Given the description of an element on the screen output the (x, y) to click on. 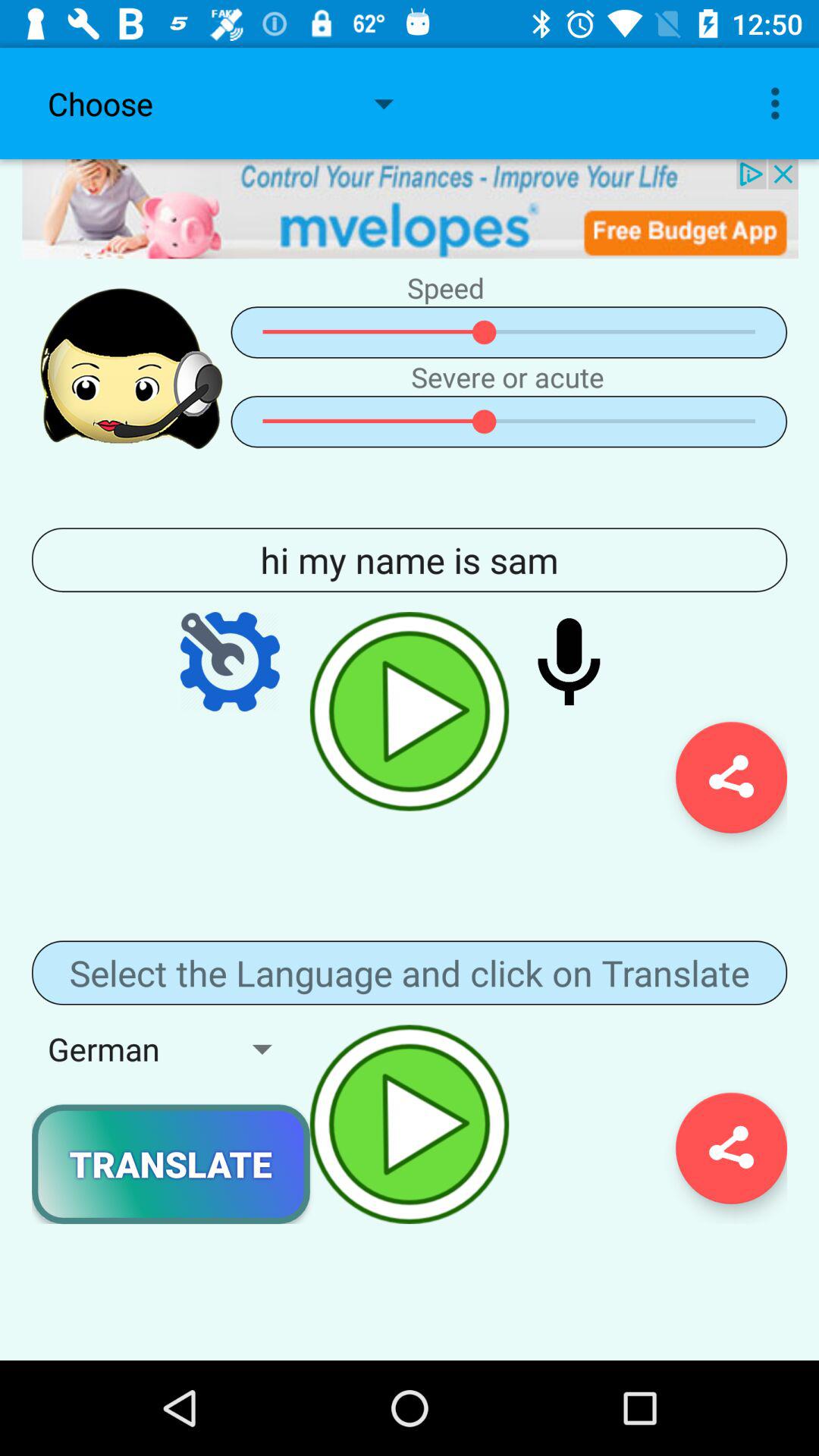
share the app (731, 1148)
